Given the description of an element on the screen output the (x, y) to click on. 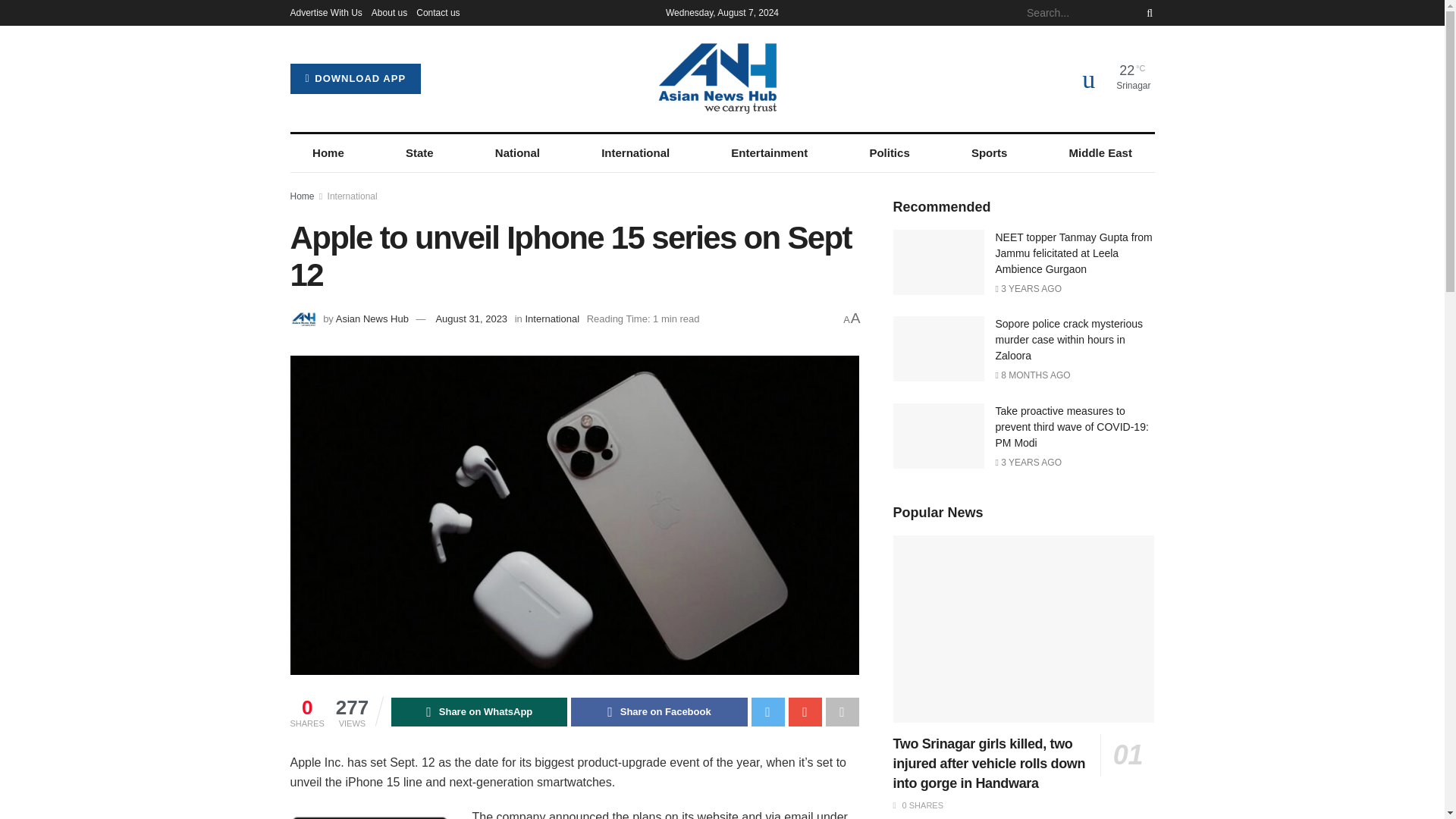
International (352, 195)
Politics (890, 152)
State (418, 152)
National (516, 152)
Home (301, 195)
Home (327, 152)
Entertainment (769, 152)
Middle East (1100, 152)
Sports (989, 152)
International (636, 152)
